Given the description of an element on the screen output the (x, y) to click on. 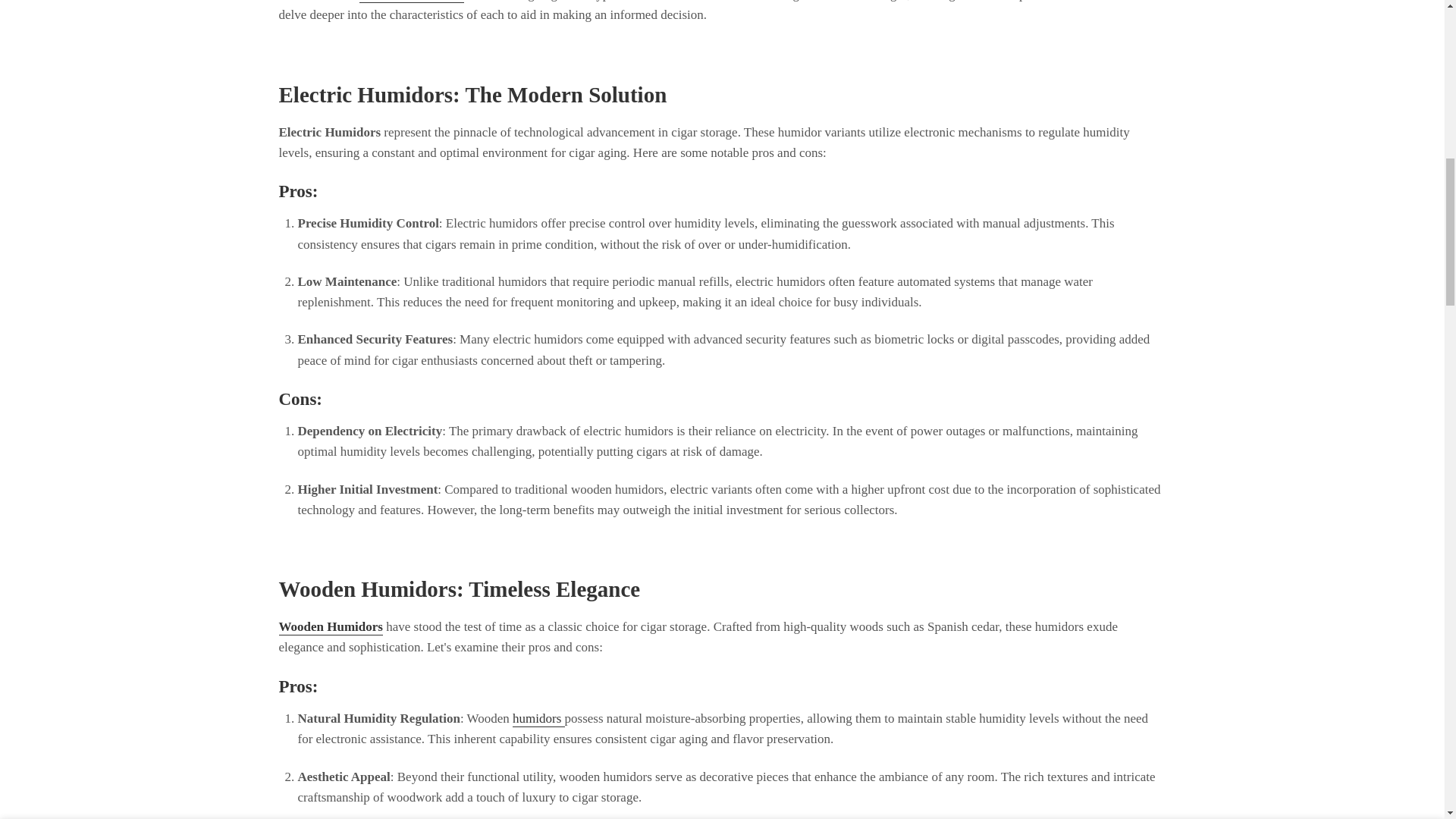
humidors (538, 719)
Wooden Humidors (330, 627)
Wooden Humidors (330, 627)
Wooden Humidors (411, 1)
wooden humidors (411, 1)
humidors (538, 719)
